Given the description of an element on the screen output the (x, y) to click on. 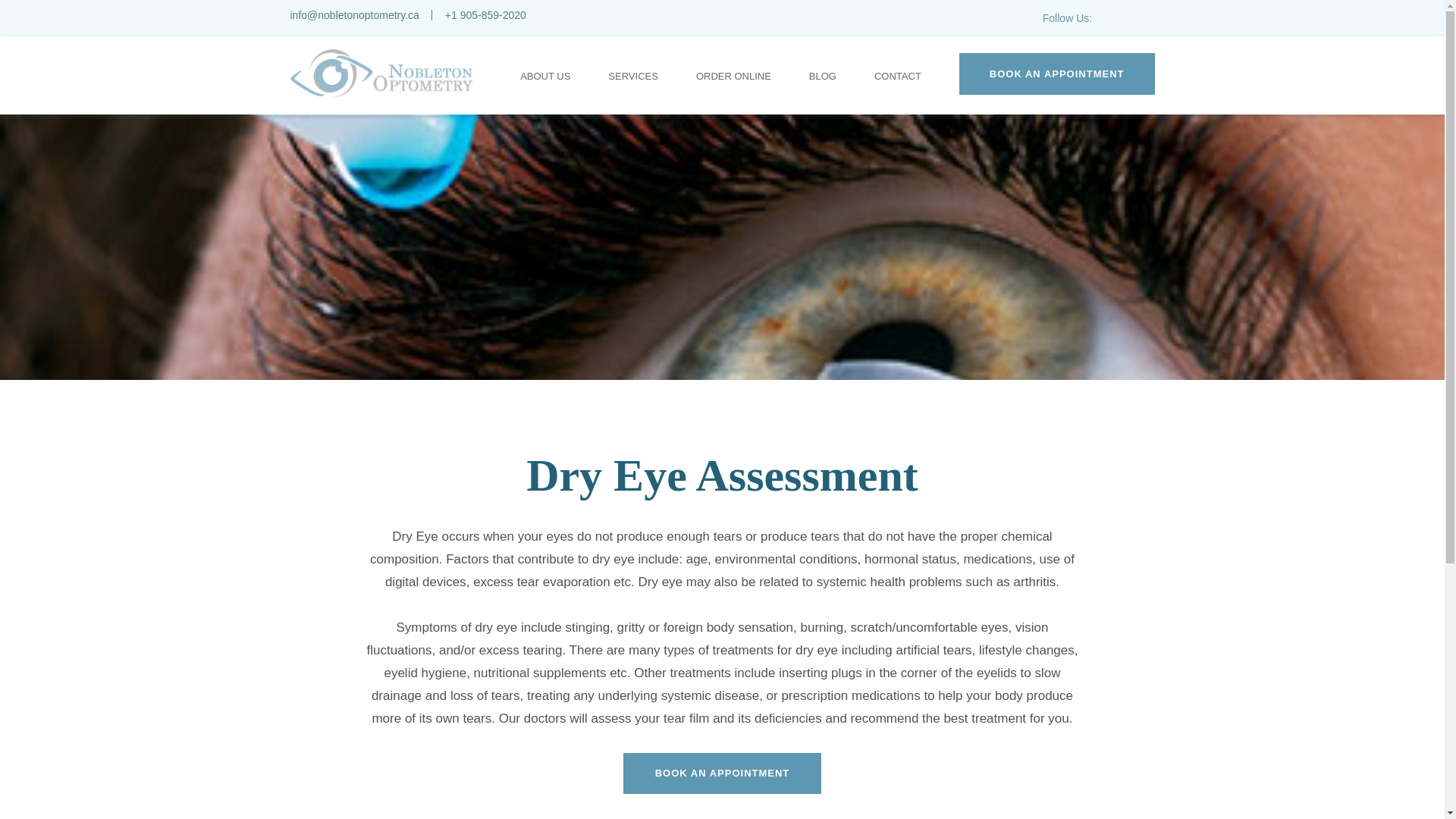
BLOG (822, 75)
SERVICES (633, 75)
ABOUT US (544, 75)
CONTACT (898, 75)
ORDER ONLINE (733, 75)
BOOK AN APPOINTMENT (722, 772)
BOOK AN APPOINTMENT (1056, 74)
